Given the description of an element on the screen output the (x, y) to click on. 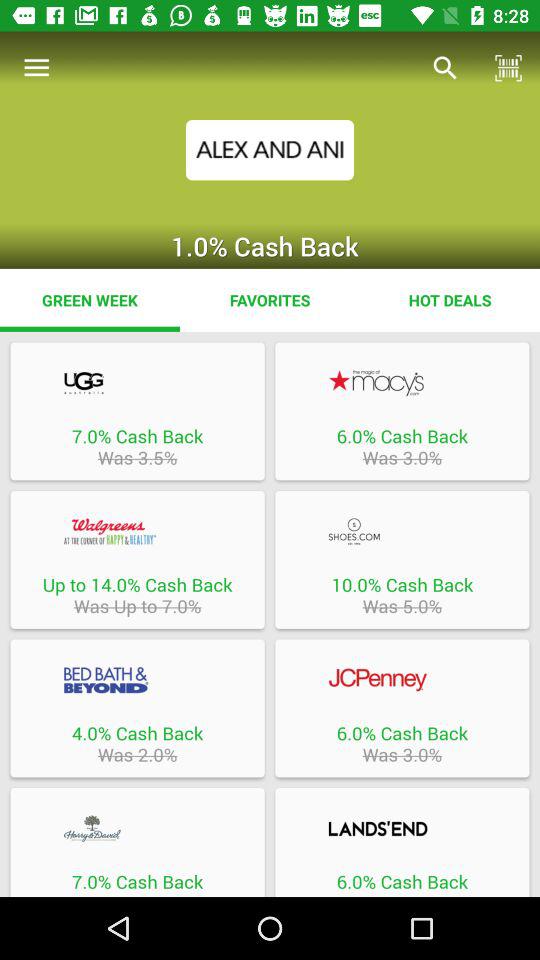
press icon next to the favorites app (450, 299)
